Given the description of an element on the screen output the (x, y) to click on. 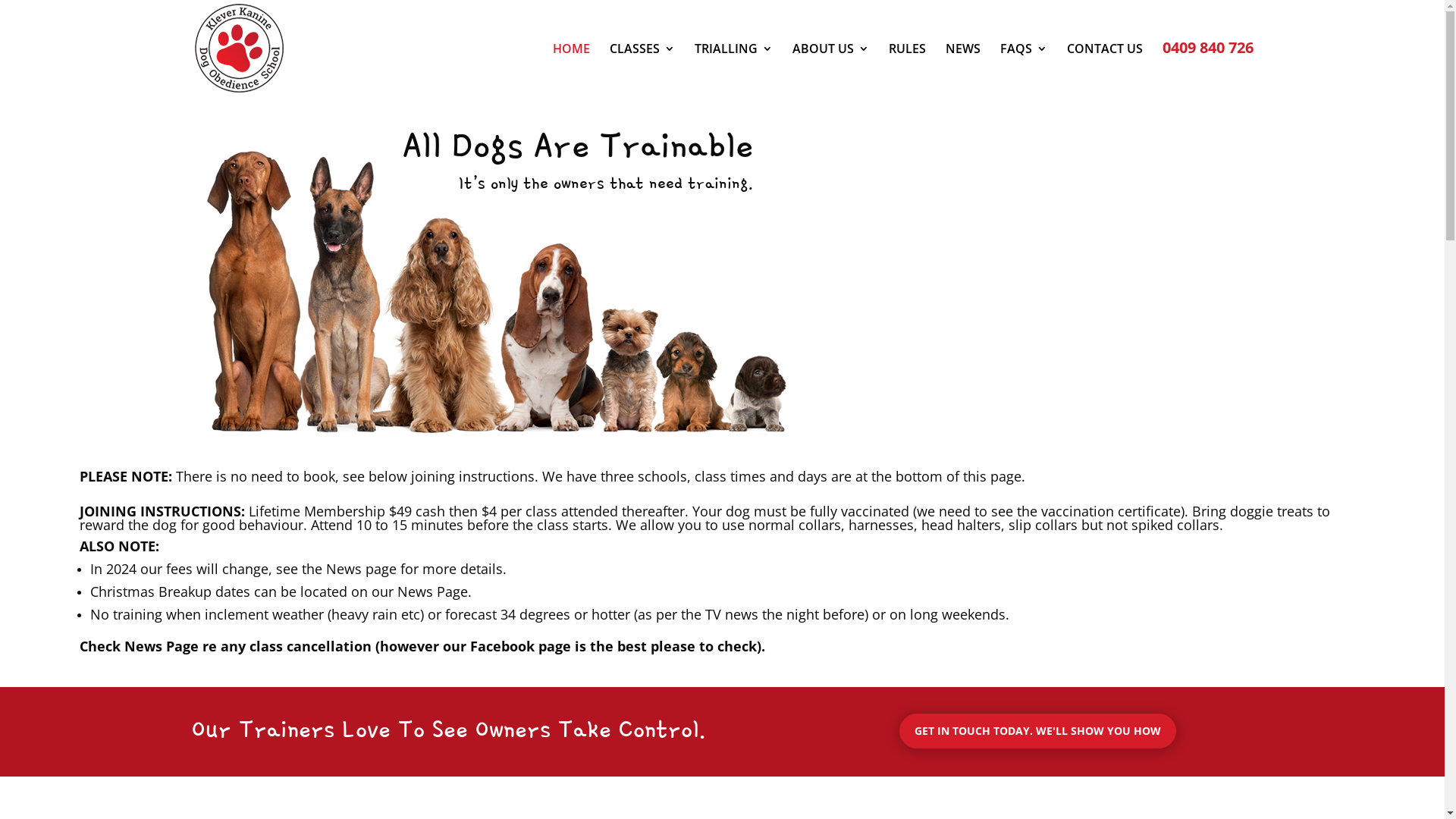
FAQS Element type: text (1022, 69)
CONTACT US Element type: text (1104, 69)
HOME Element type: text (570, 69)
dogs Element type: hover (501, 282)
CLASSES Element type: text (641, 69)
NEWS Element type: text (961, 69)
GET IN TOUCH TODAY. WE'LL SHOW YOU HOW Element type: text (1037, 730)
0409 840 726 Element type: text (1206, 68)
TRIALLING Element type: text (733, 69)
ABOUT US Element type: text (829, 69)
RULES Element type: text (906, 69)
